Given the description of an element on the screen output the (x, y) to click on. 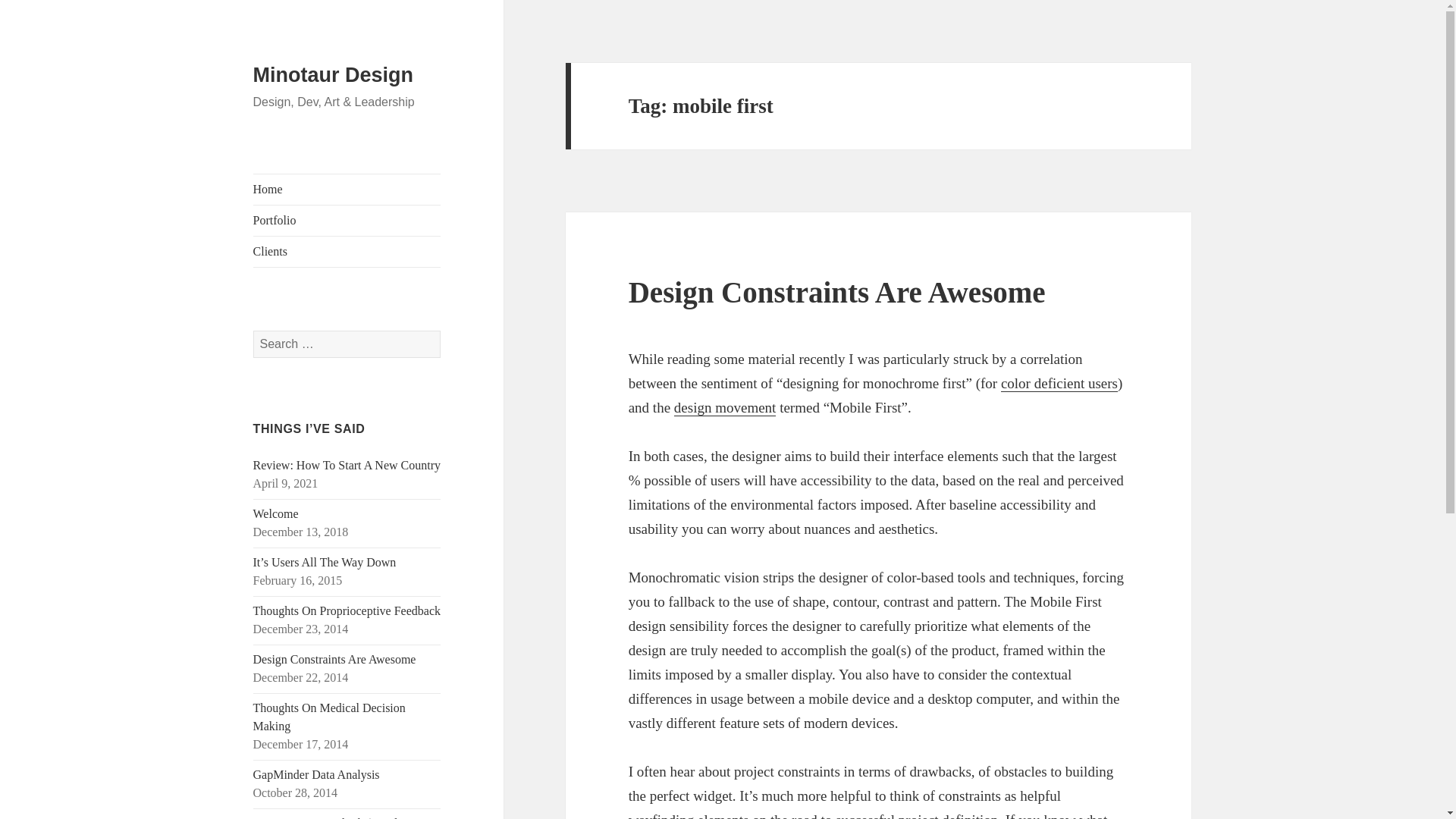
Home (347, 189)
Design Constraints Are Awesome (836, 292)
Portfolio (347, 220)
Clients (347, 251)
Review: How To Start A New Country (347, 464)
Home (347, 189)
Design Constraints Are Awesome (334, 658)
color deficient users (1059, 383)
Minotaur Design (333, 74)
Thoughts On Medical Decision Making (329, 716)
design movement (725, 407)
GapMinder Data Analysis (316, 774)
